Given the description of an element on the screen output the (x, y) to click on. 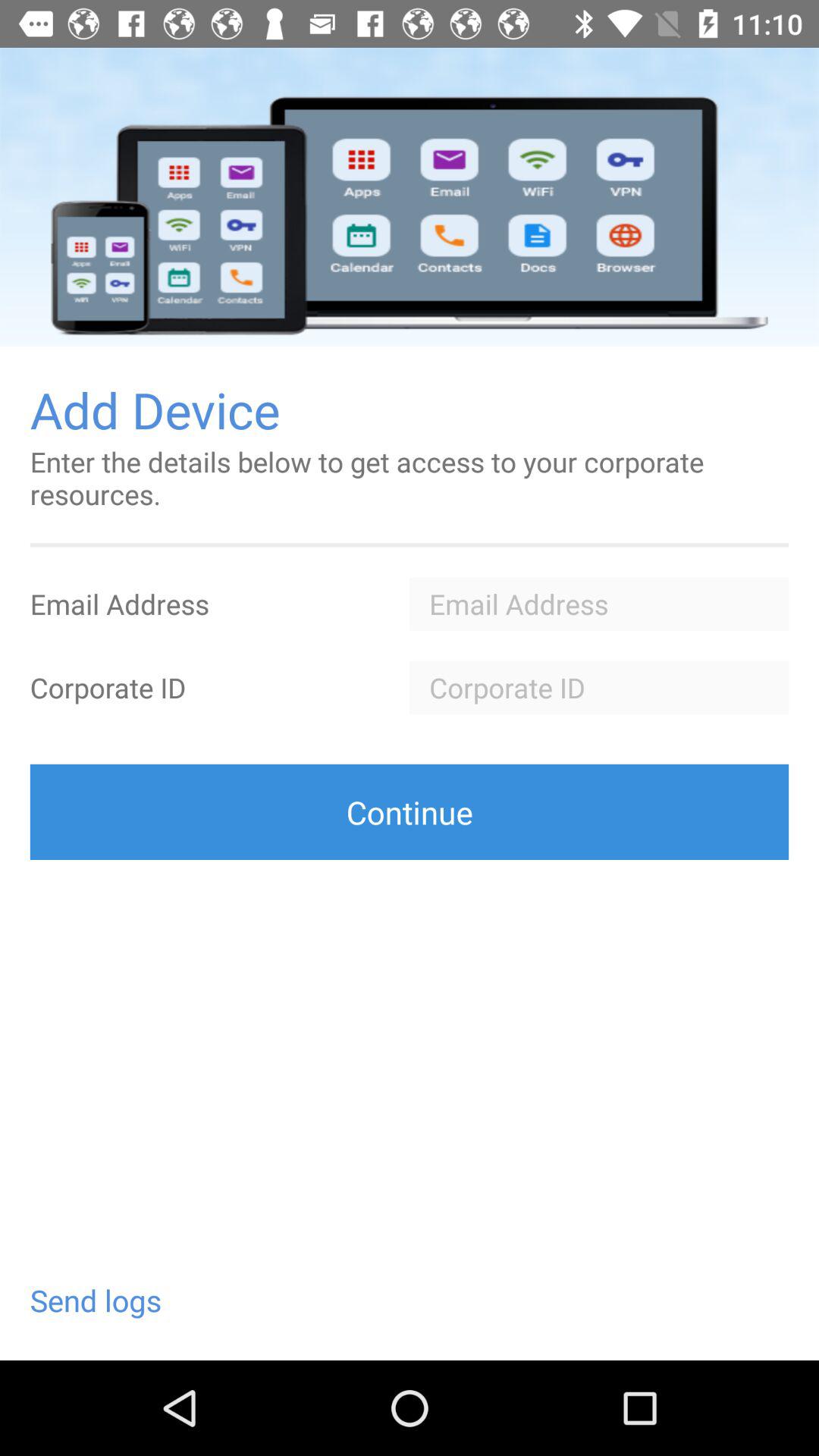
turn off the continue item (409, 811)
